Given the description of an element on the screen output the (x, y) to click on. 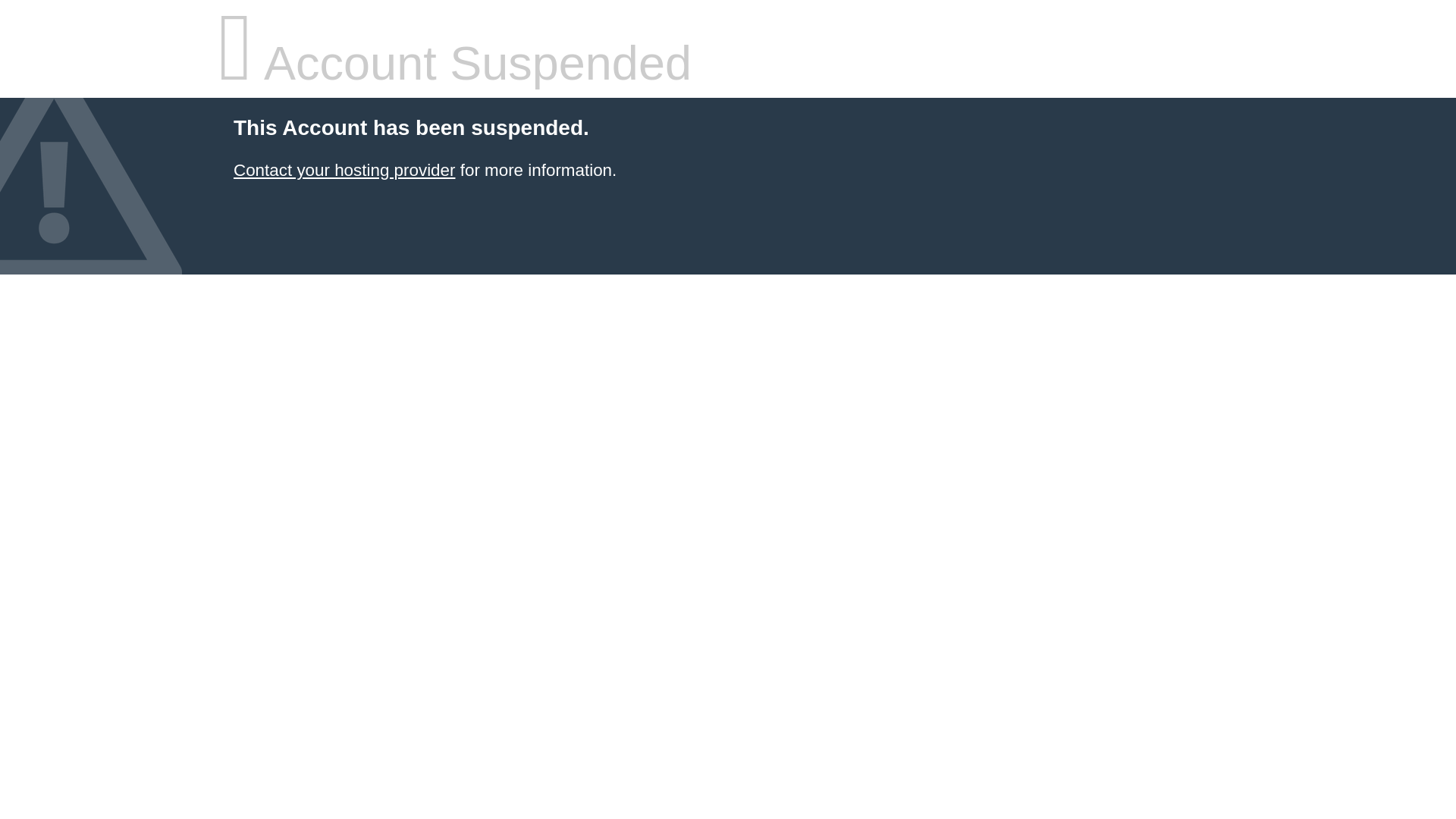
Contact your hosting provider (343, 169)
